Given the description of an element on the screen output the (x, y) to click on. 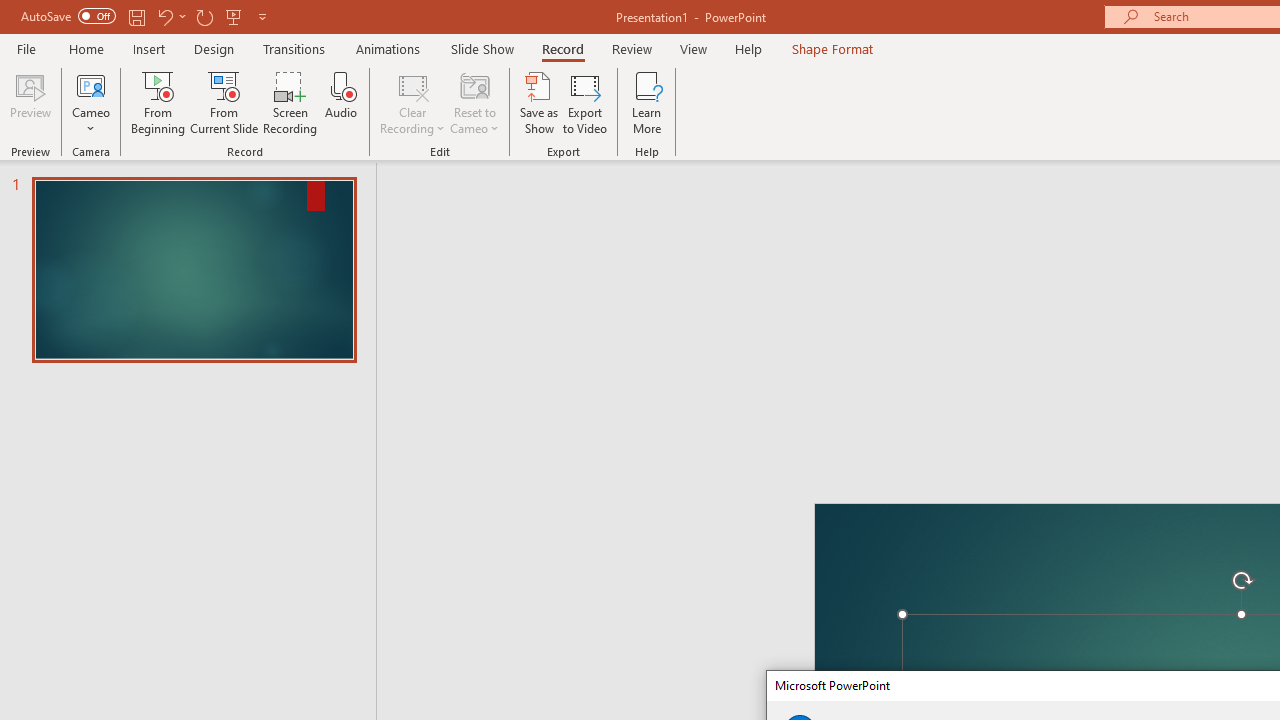
Screen Recording (290, 102)
Reset to Cameo (474, 102)
Export to Video (585, 102)
Slide (194, 269)
Preview (30, 102)
From Current Slide... (224, 102)
Save as Show (539, 102)
Cameo (91, 84)
Cameo (91, 102)
Design (214, 48)
